Given the description of an element on the screen output the (x, y) to click on. 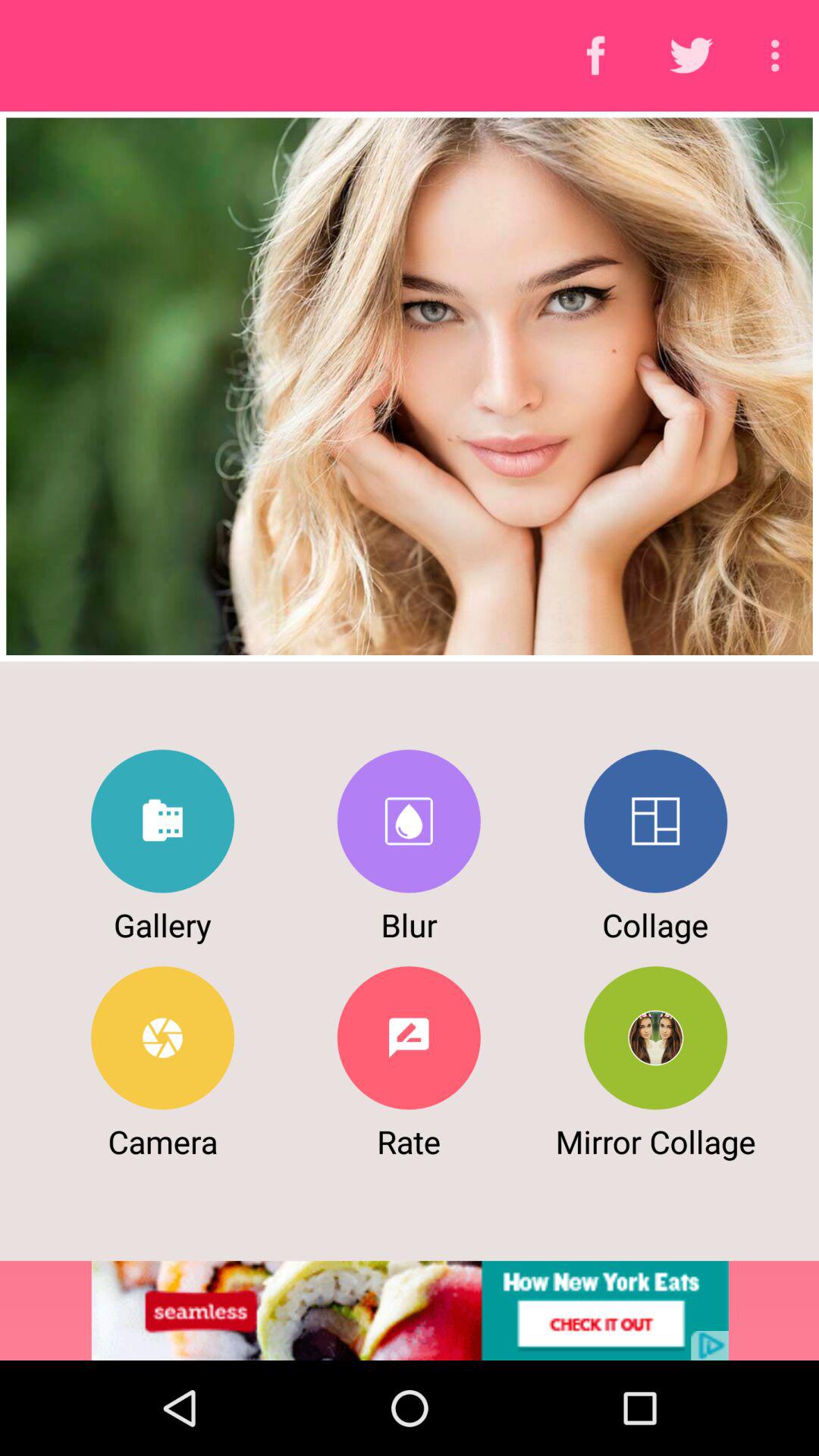
twitter (162, 820)
